Given the description of an element on the screen output the (x, y) to click on. 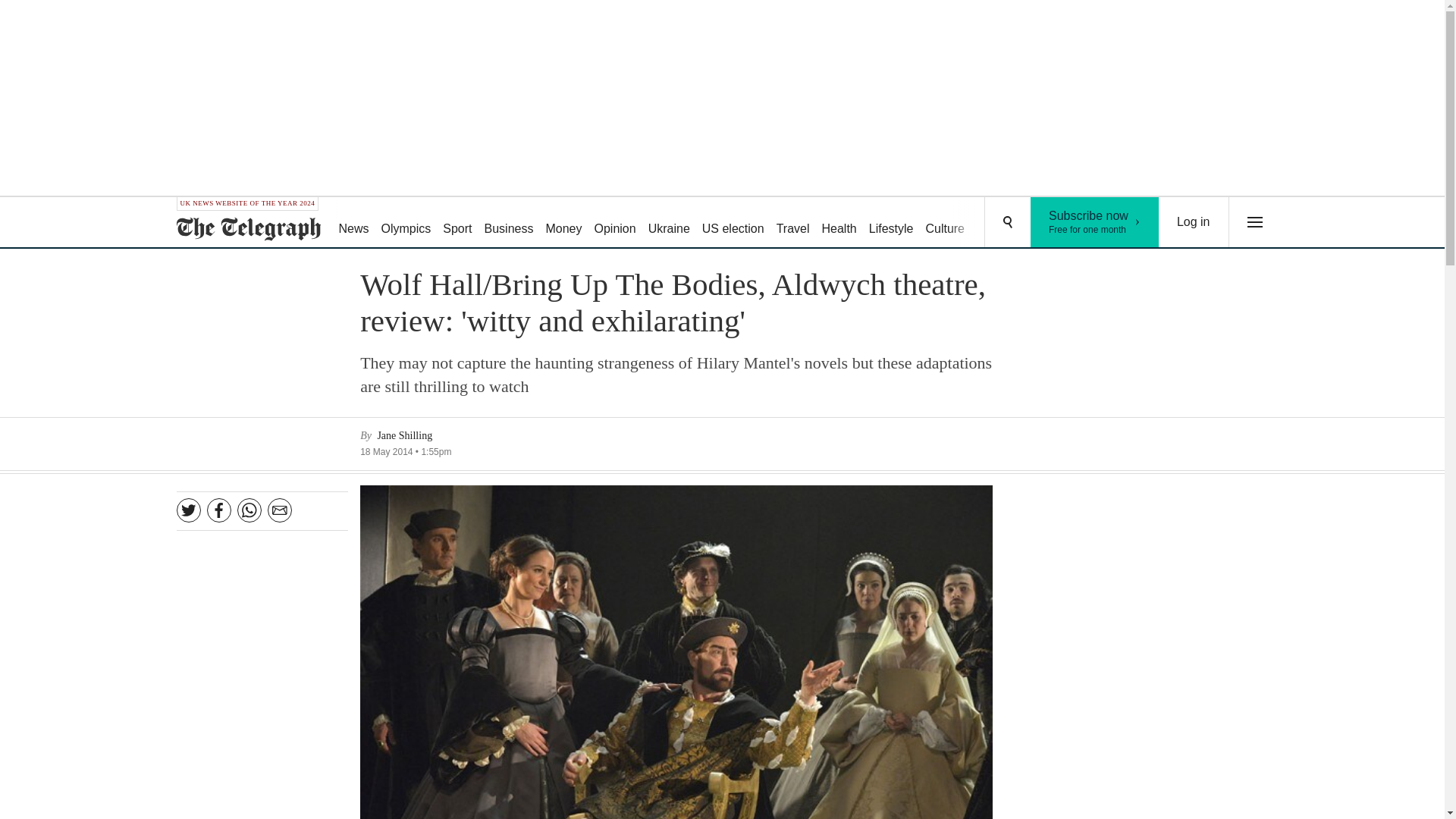
Puzzles (1094, 222)
Podcasts (998, 223)
Business (1056, 223)
Olympics (509, 223)
Culture (406, 223)
Log in (944, 223)
Ukraine (1193, 222)
Money (668, 223)
Travel (563, 223)
US election (792, 223)
Health (732, 223)
Lifestyle (838, 223)
Opinion (891, 223)
